Given the description of an element on the screen output the (x, y) to click on. 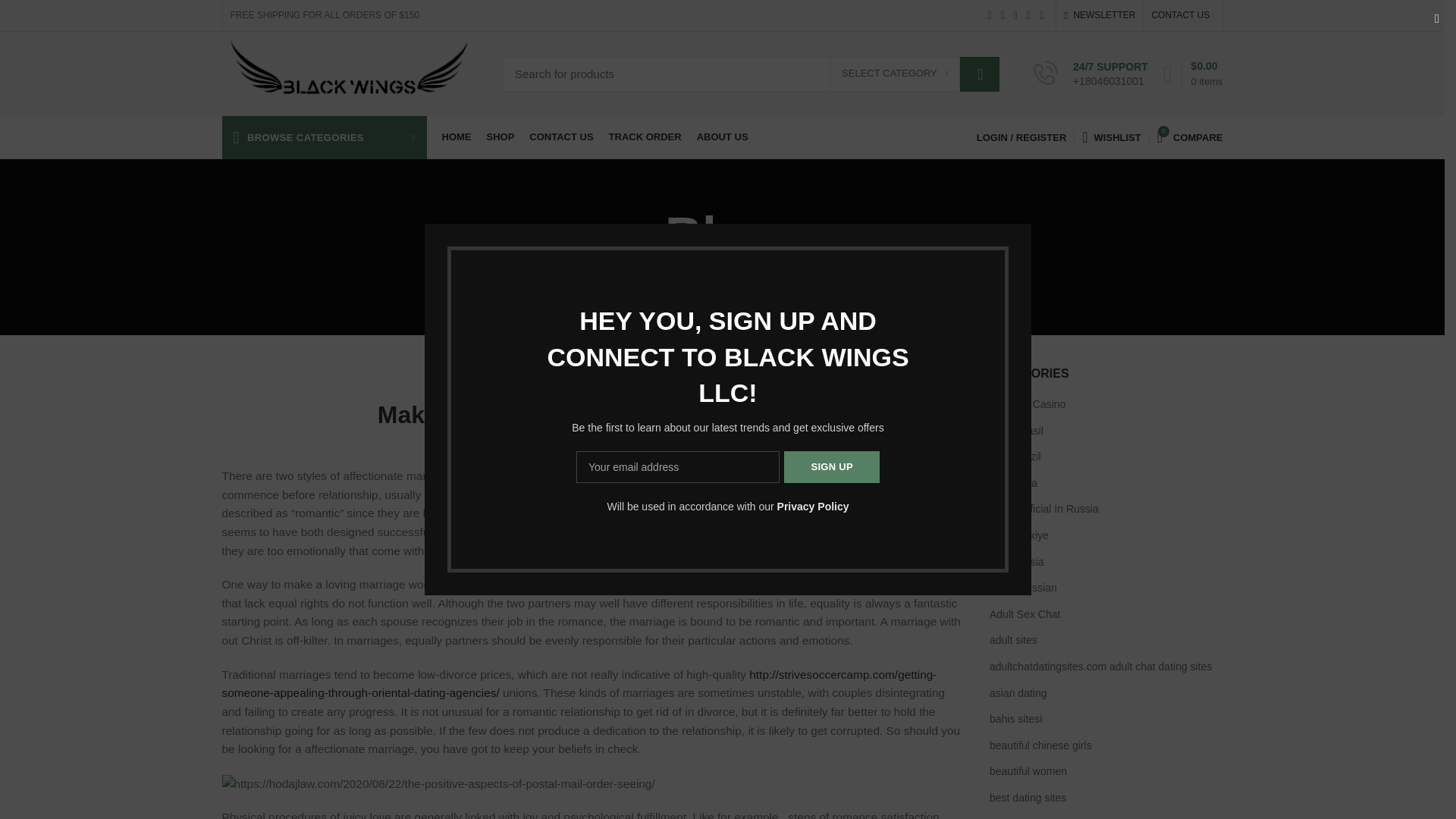
My Wishlist (1111, 137)
Sign up (831, 467)
My account (1021, 137)
Privacy Policy (812, 506)
ASK A QUESTION (1228, 430)
Search for products (750, 73)
CONTACT US (1181, 15)
Sign up (831, 467)
SELECT CATEGORY (894, 73)
SEARCH (978, 73)
